Given the description of an element on the screen output the (x, y) to click on. 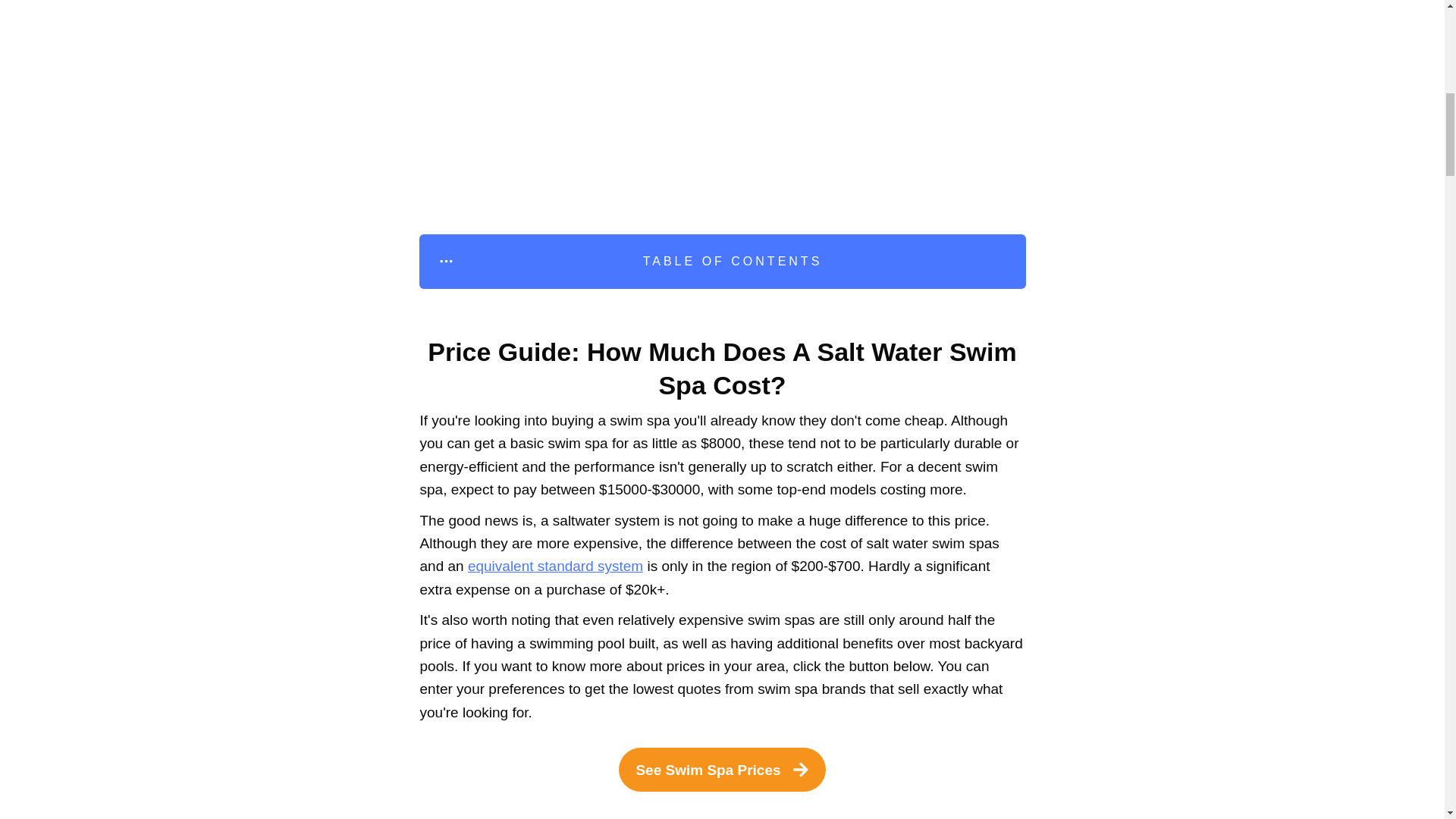
See Swim Spa Prices (721, 769)
TABLE OF CONTENTS (722, 261)
equivalent standard system (555, 565)
